Given the description of an element on the screen output the (x, y) to click on. 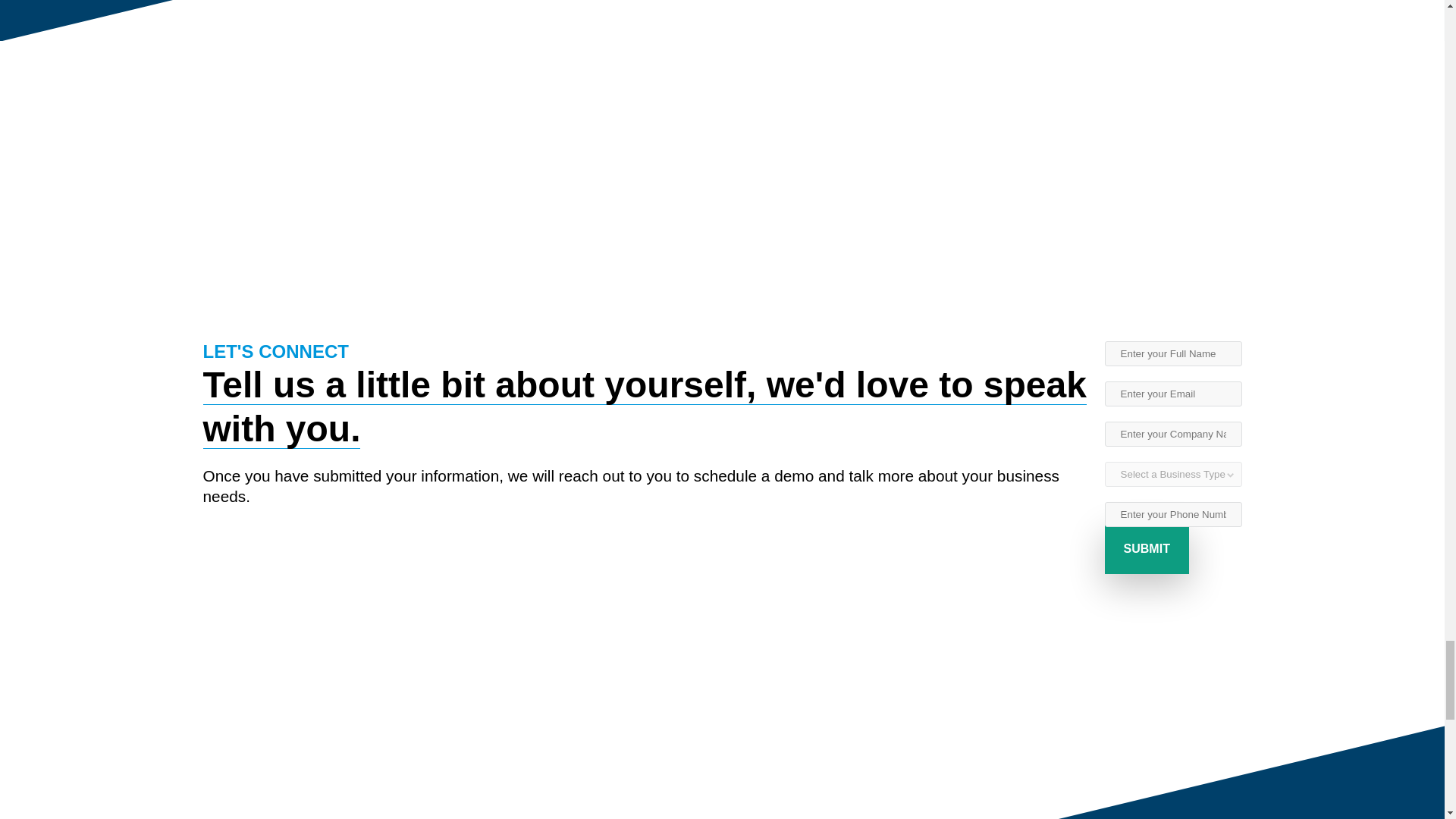
SUBMIT (1147, 548)
